Given the description of an element on the screen output the (x, y) to click on. 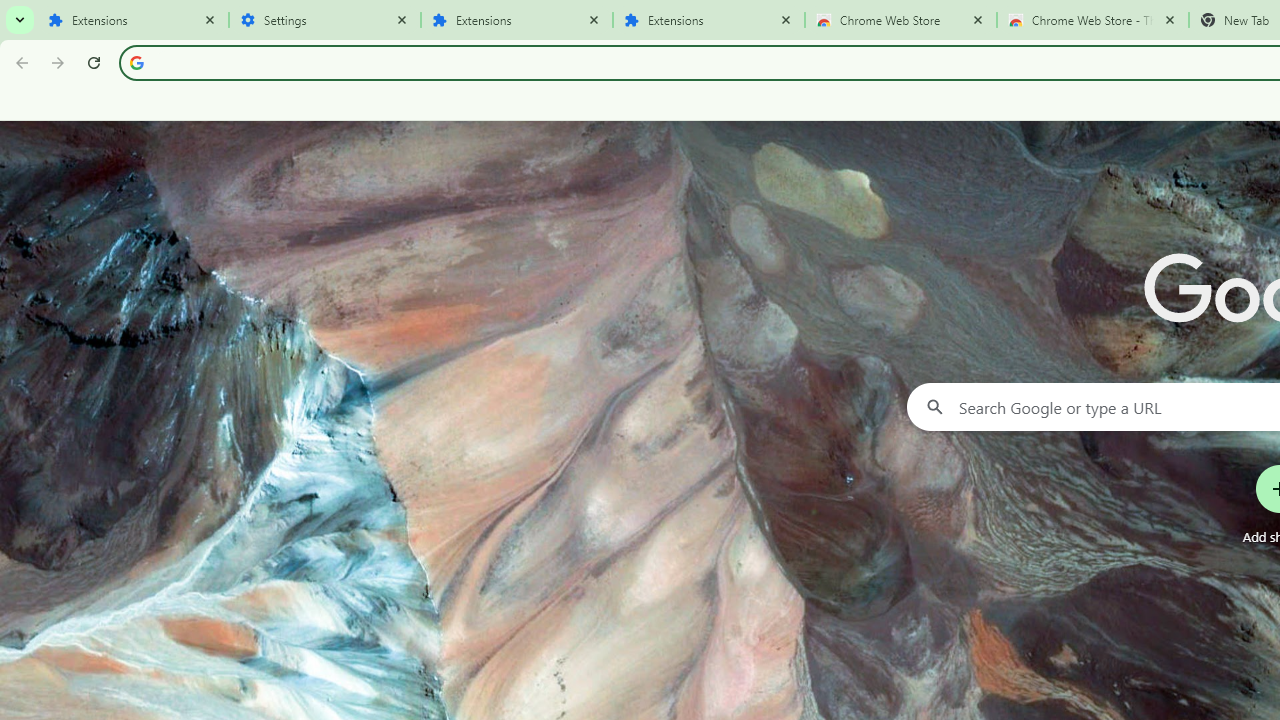
Extensions (709, 20)
Extensions (133, 20)
Chrome Web Store - Themes (1093, 20)
Settings (325, 20)
Chrome Web Store (901, 20)
Extensions (517, 20)
